Given the description of an element on the screen output the (x, y) to click on. 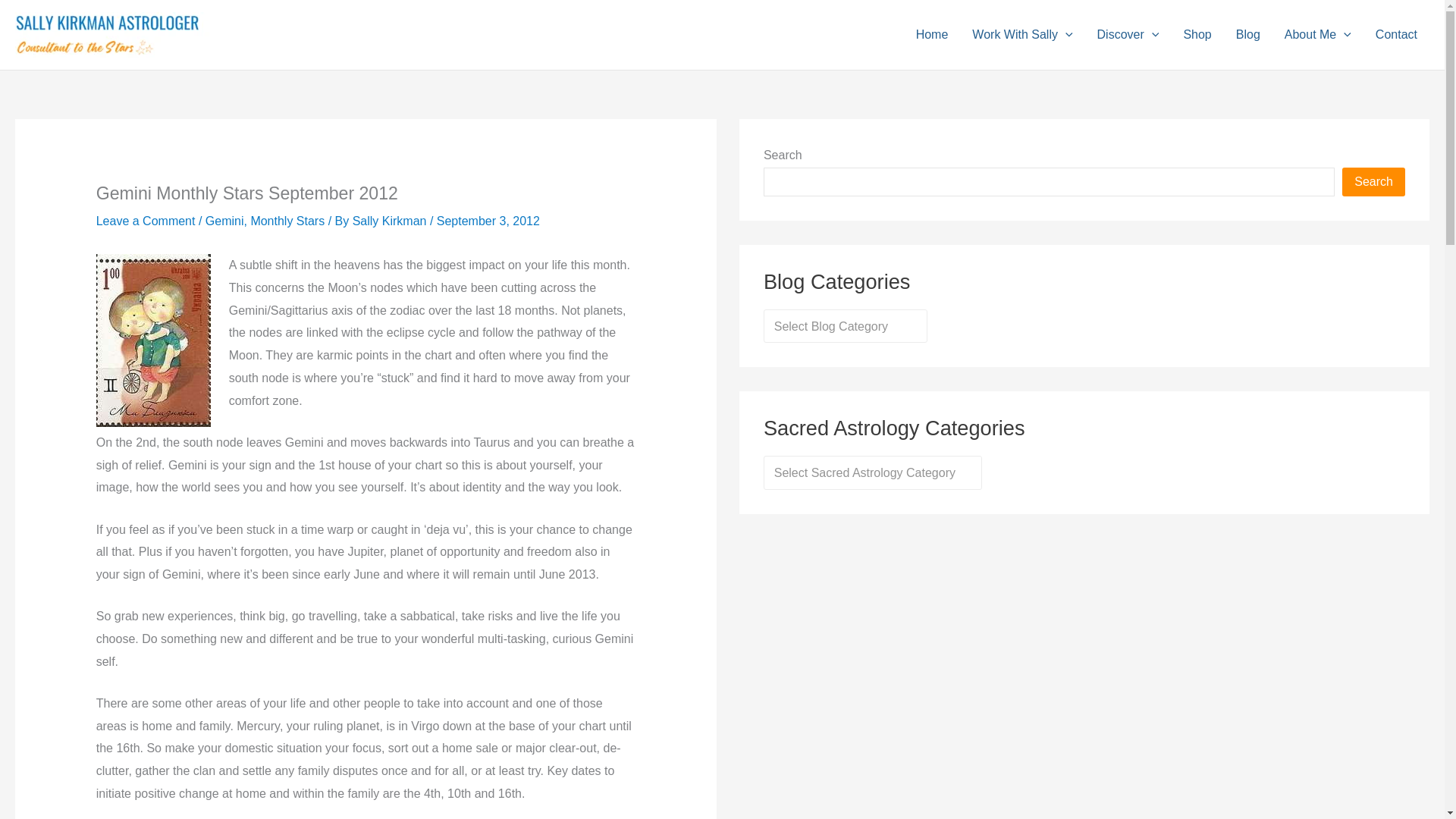
Shop (1196, 34)
View all posts by Sally Kirkman (390, 220)
Contact (1395, 34)
Work With Sally (1021, 34)
Home (932, 34)
Discover (1128, 34)
About Me (1317, 34)
Blog (1248, 34)
